Given the description of an element on the screen output the (x, y) to click on. 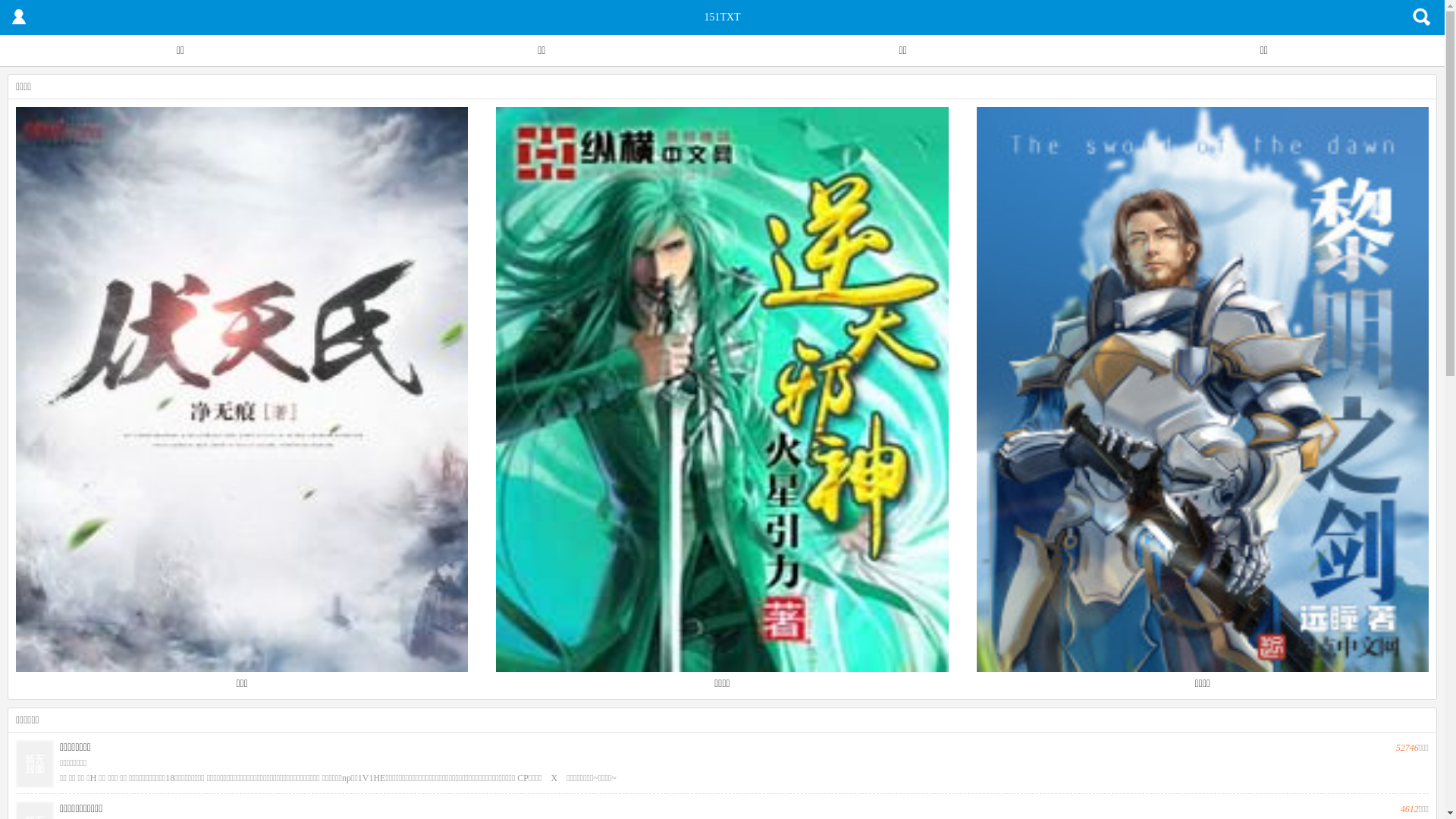
  Element type: text (1421, 17)
  Element type: text (18, 17)
